Given the description of an element on the screen output the (x, y) to click on. 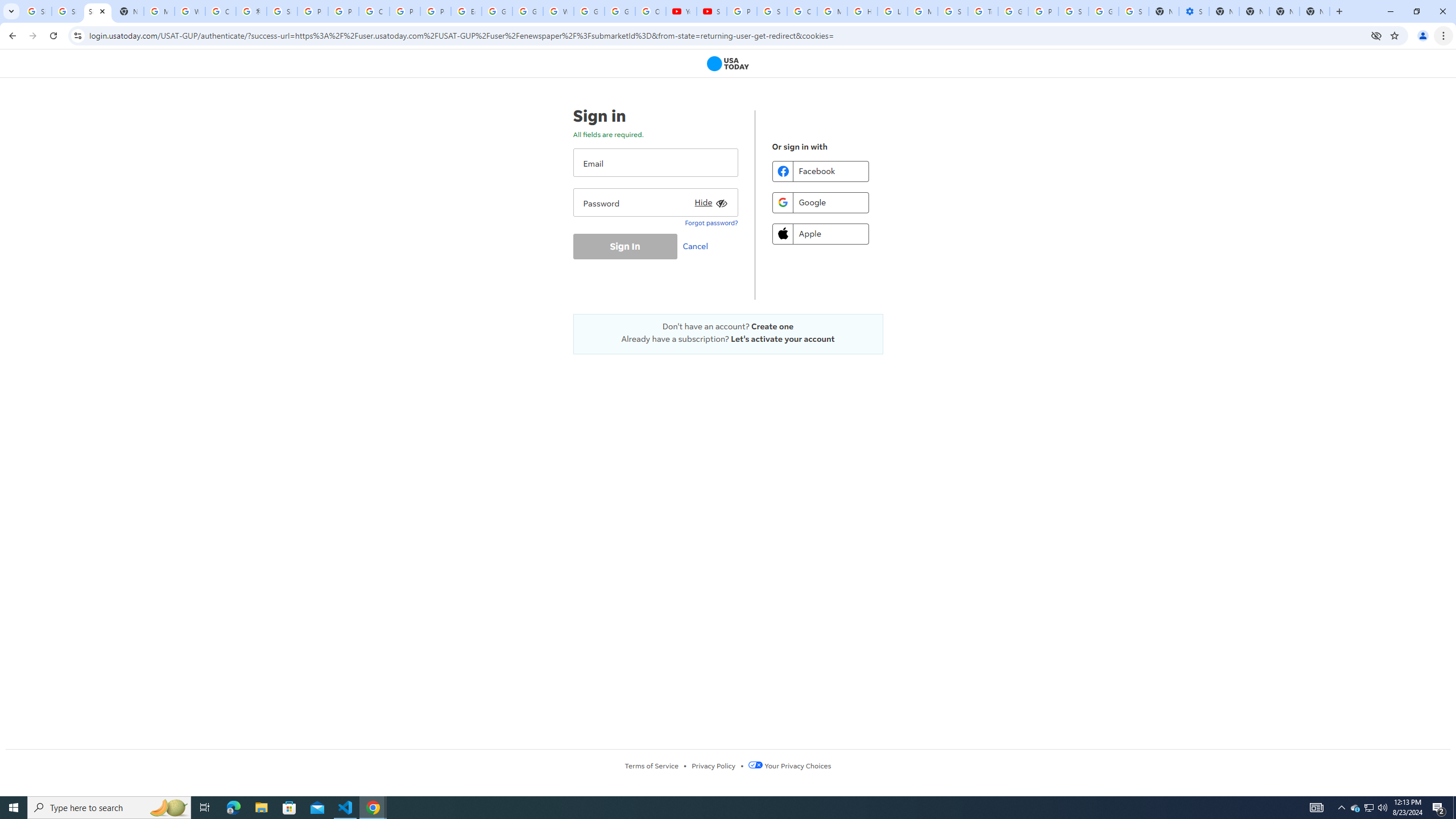
New Tab (1314, 11)
USA TODAY (727, 64)
Search our Doodle Library Collection - Google Doodles (952, 11)
Reload (52, 35)
Create your Google Account (220, 11)
Trusted Information and Content - Google Safety Center (982, 11)
Sign in - Google Accounts (66, 11)
Address and search bar (726, 35)
Subscriptions - YouTube (711, 11)
Minimize (1390, 11)
YouTube (681, 11)
Apple (820, 233)
Enter Password (655, 202)
Sign In - USA TODAY (97, 11)
